Given the description of an element on the screen output the (x, y) to click on. 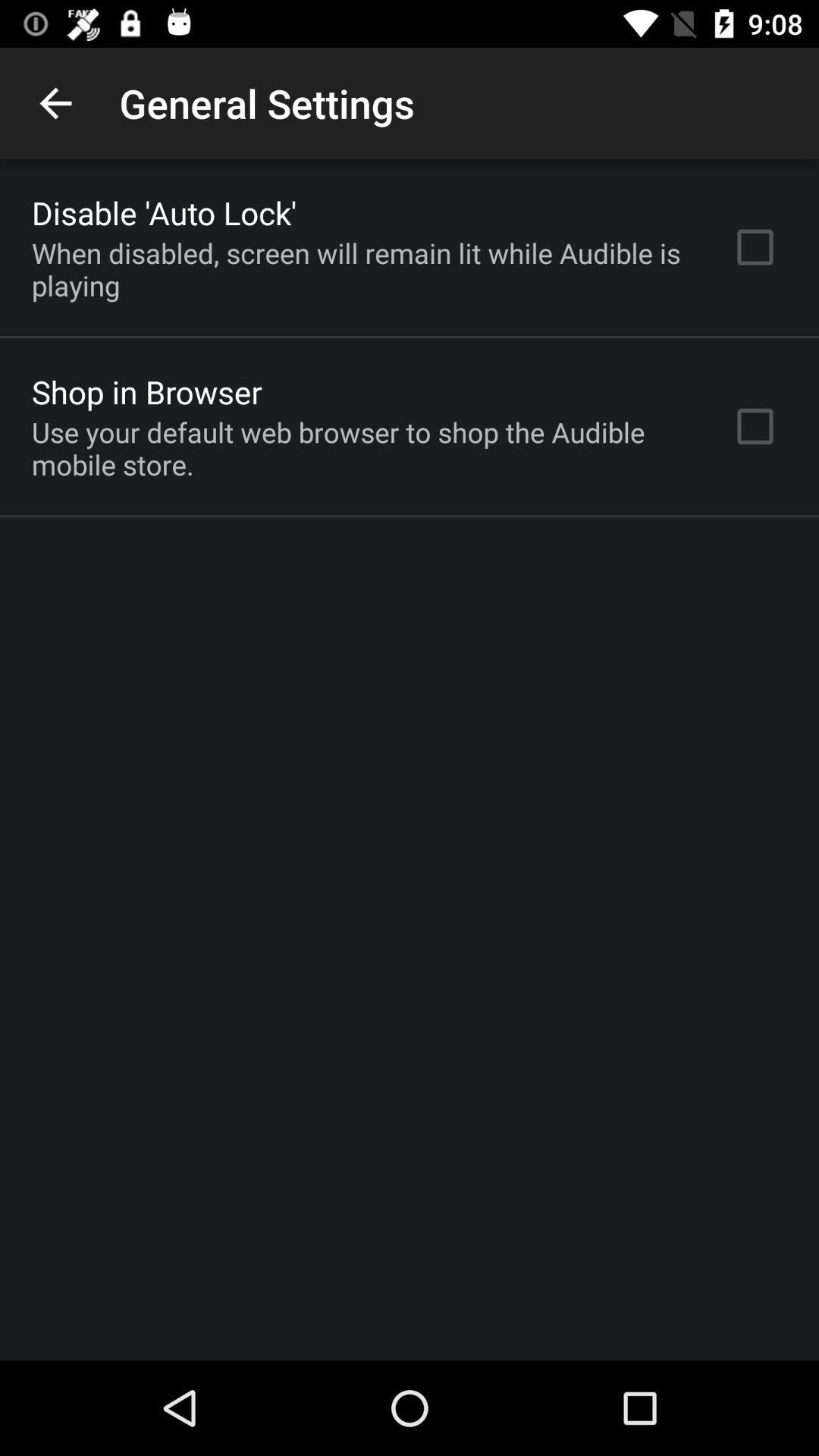
turn on icon above the when disabled screen (163, 212)
